Given the description of an element on the screen output the (x, y) to click on. 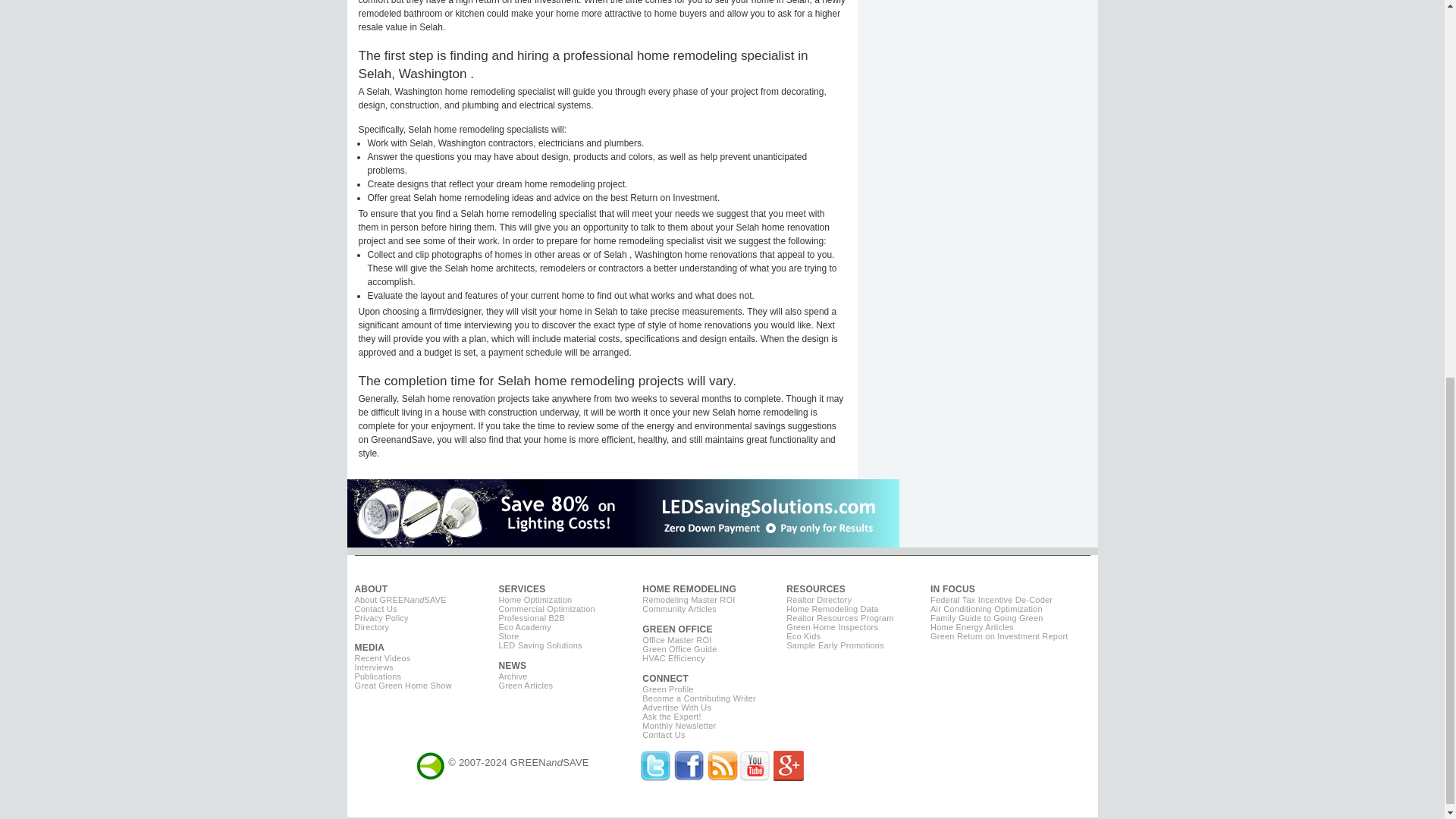
Optimizing Energy and Utility Costs (520, 588)
GREENandSAVE RSS Feeds (721, 777)
GREENandSAVE.com Home (429, 762)
GREENandSAVE on FaceBook (689, 777)
GREENandSAVE on Twitter (655, 777)
GREENandSAVE on YouTube (754, 777)
